Given the description of an element on the screen output the (x, y) to click on. 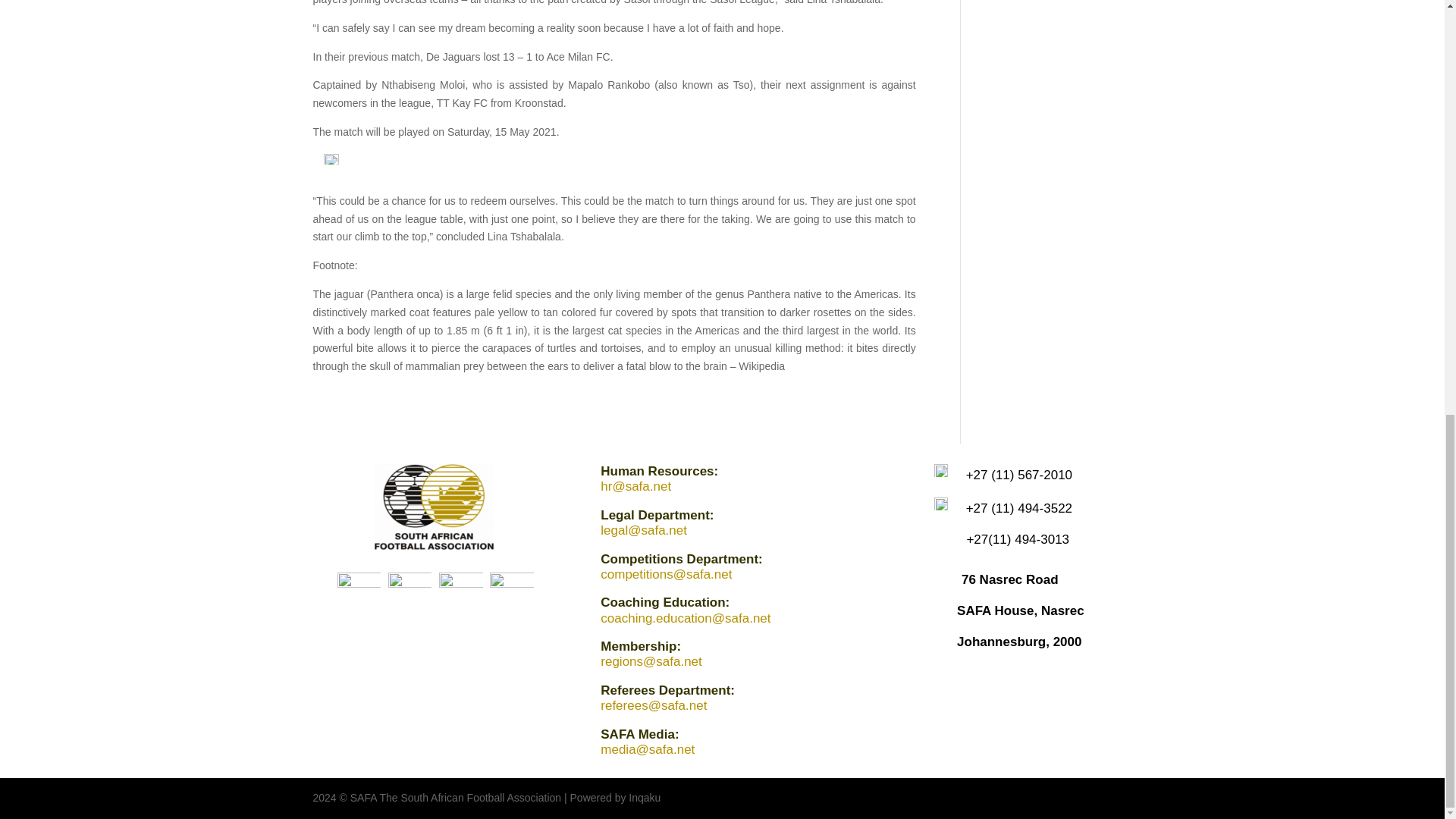
SAFA House, Nasrec (1020, 610)
Johannesburg, 2000 (1018, 641)
76 Nasrec Road (1009, 579)
